Given the description of an element on the screen output the (x, y) to click on. 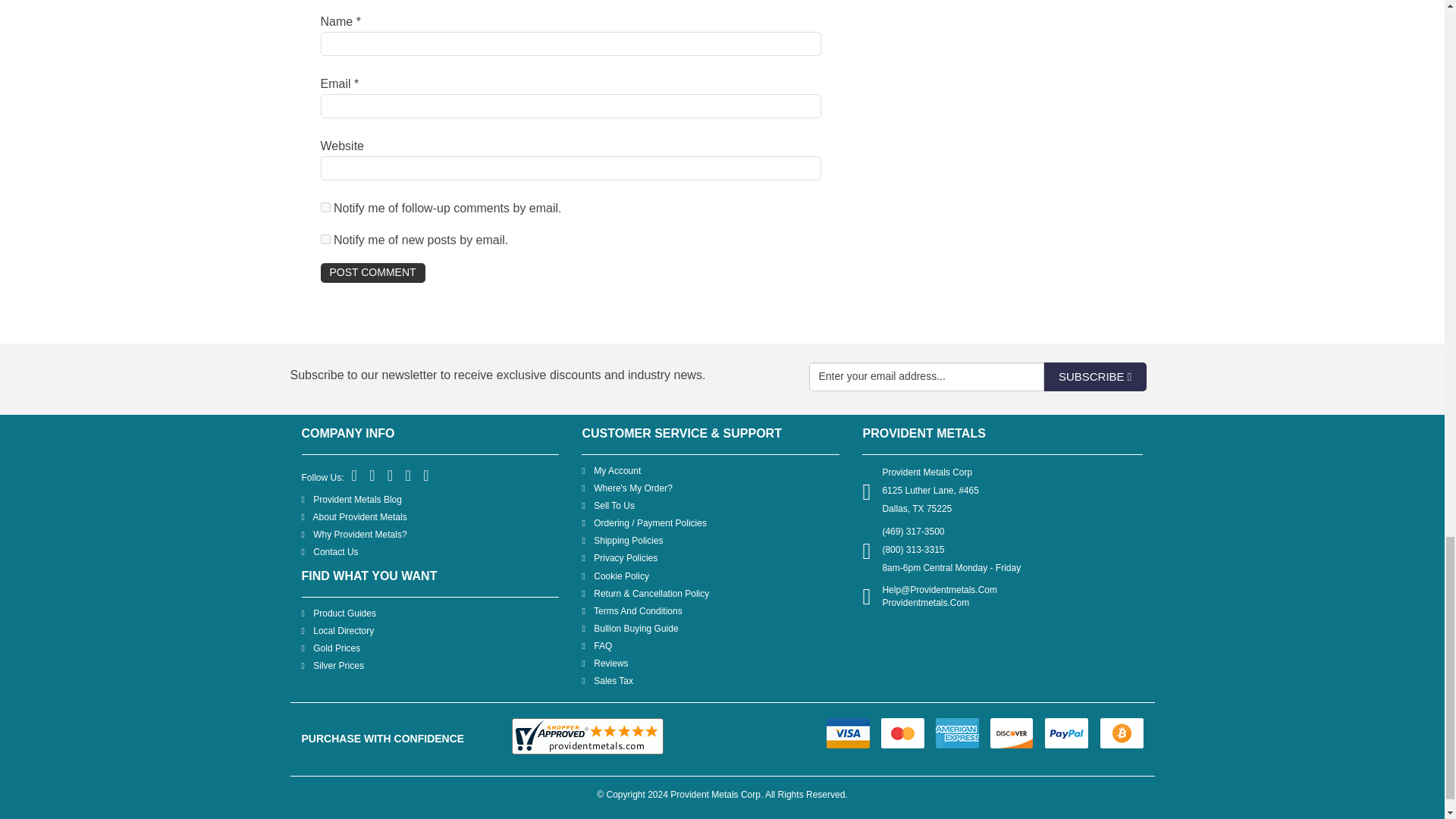
subscribe (325, 239)
You Tube (408, 475)
subscribe (325, 207)
Facebook (354, 475)
Post Comment (372, 272)
Instagram (426, 475)
Post Comment (372, 272)
Pinterest (391, 475)
Twitter (372, 475)
